Given the description of an element on the screen output the (x, y) to click on. 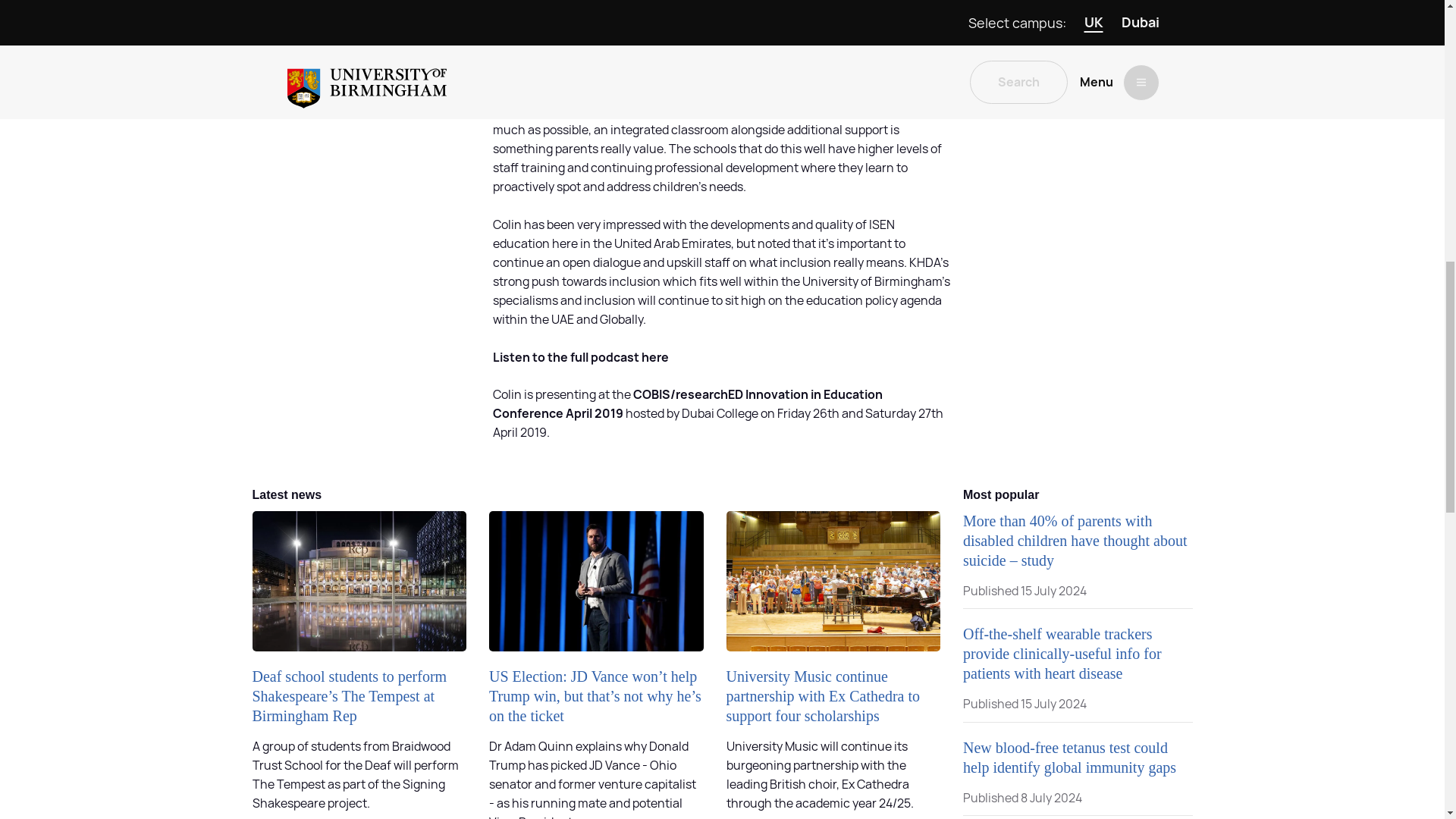
specialisms (525, 299)
Listen to the full podcast here (580, 356)
